Given the description of an element on the screen output the (x, y) to click on. 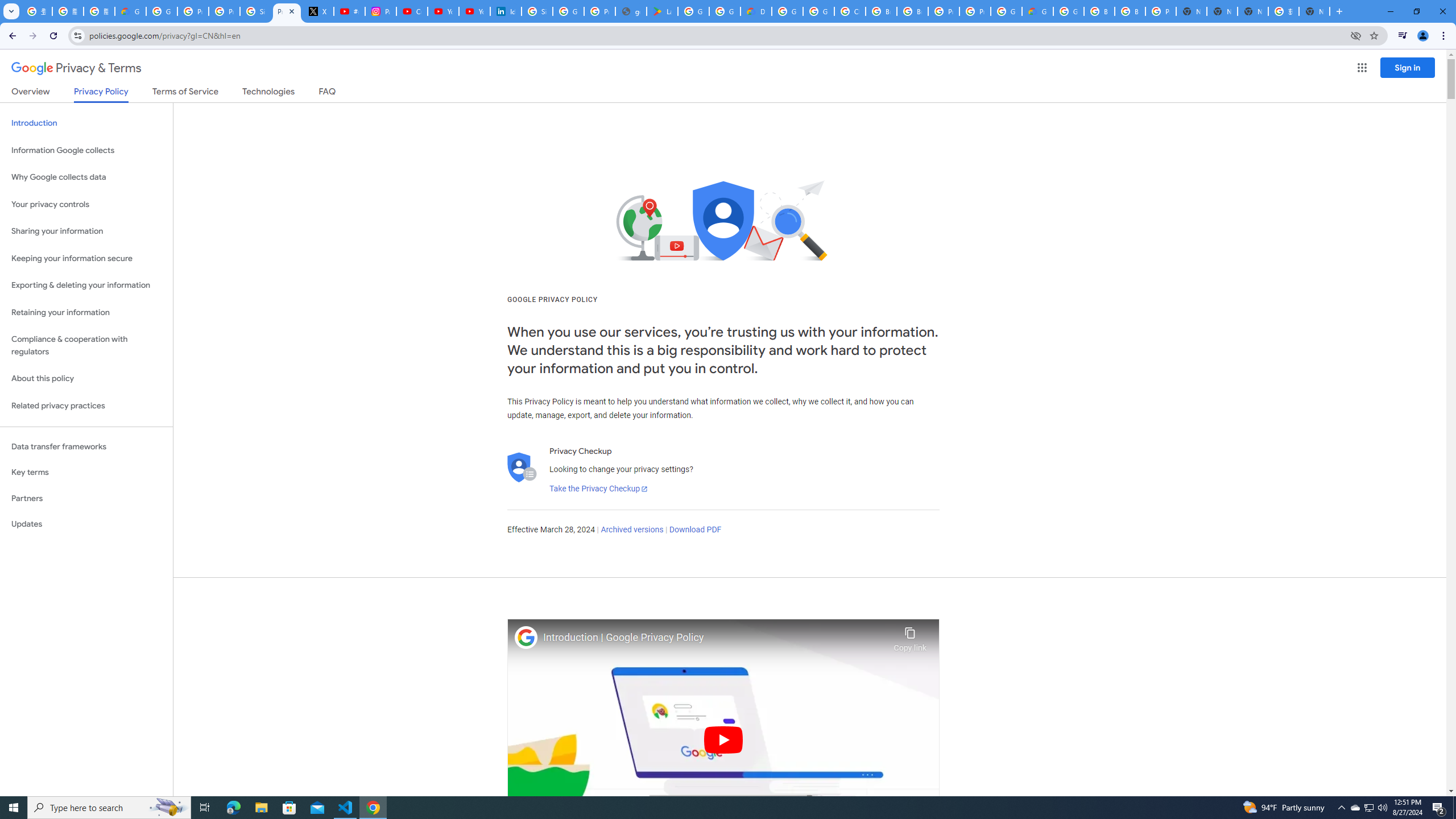
Information Google collects (86, 150)
Photo image of Google (526, 636)
YouTube Culture & Trends - YouTube Top 10, 2021 (474, 11)
Google Cloud Privacy Notice (130, 11)
